Given the description of an element on the screen output the (x, y) to click on. 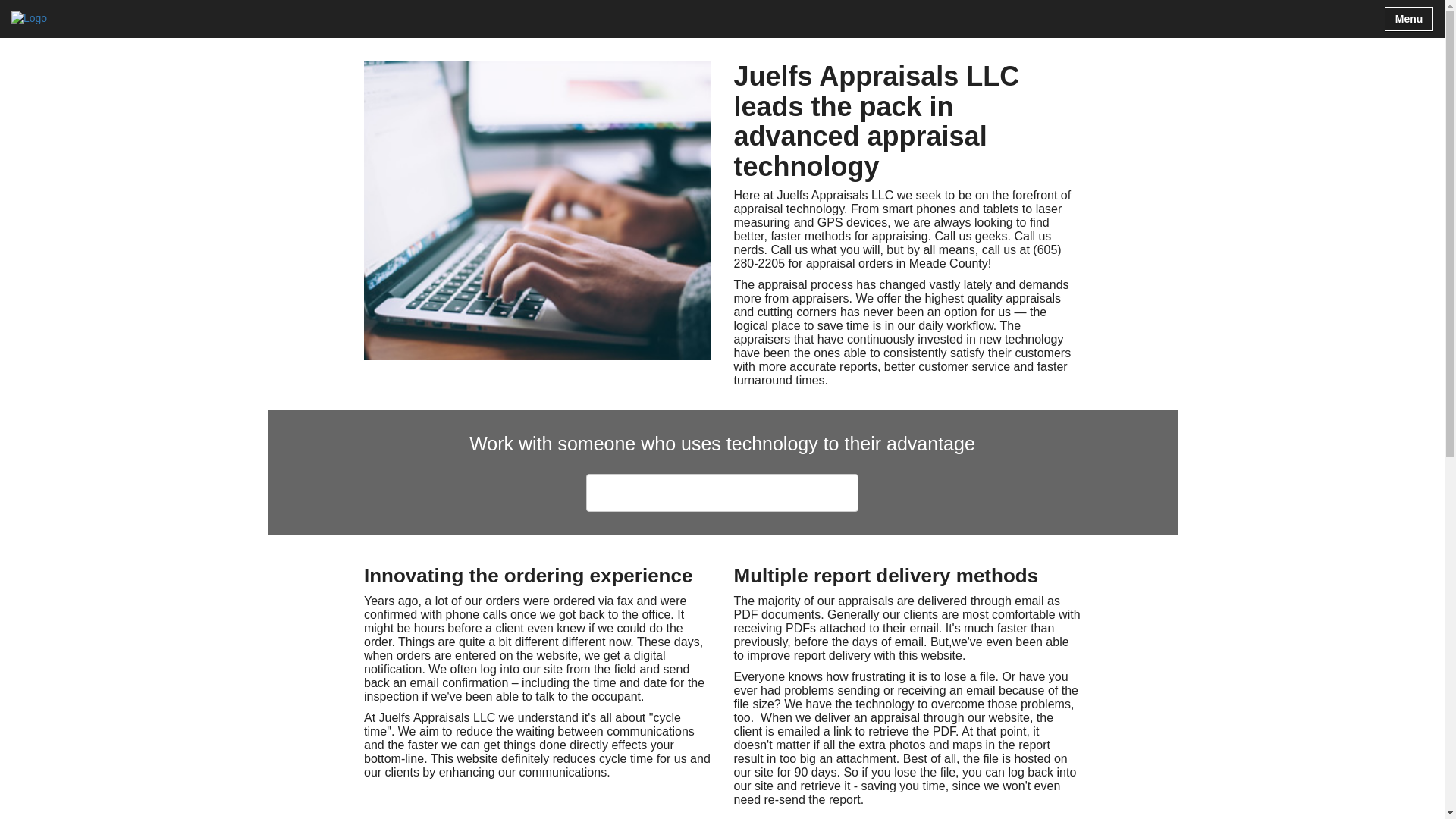
Contact Juelfs Appraisals LLC (722, 492)
Contact Us (722, 492)
Menu (1408, 18)
